Given the description of an element on the screen output the (x, y) to click on. 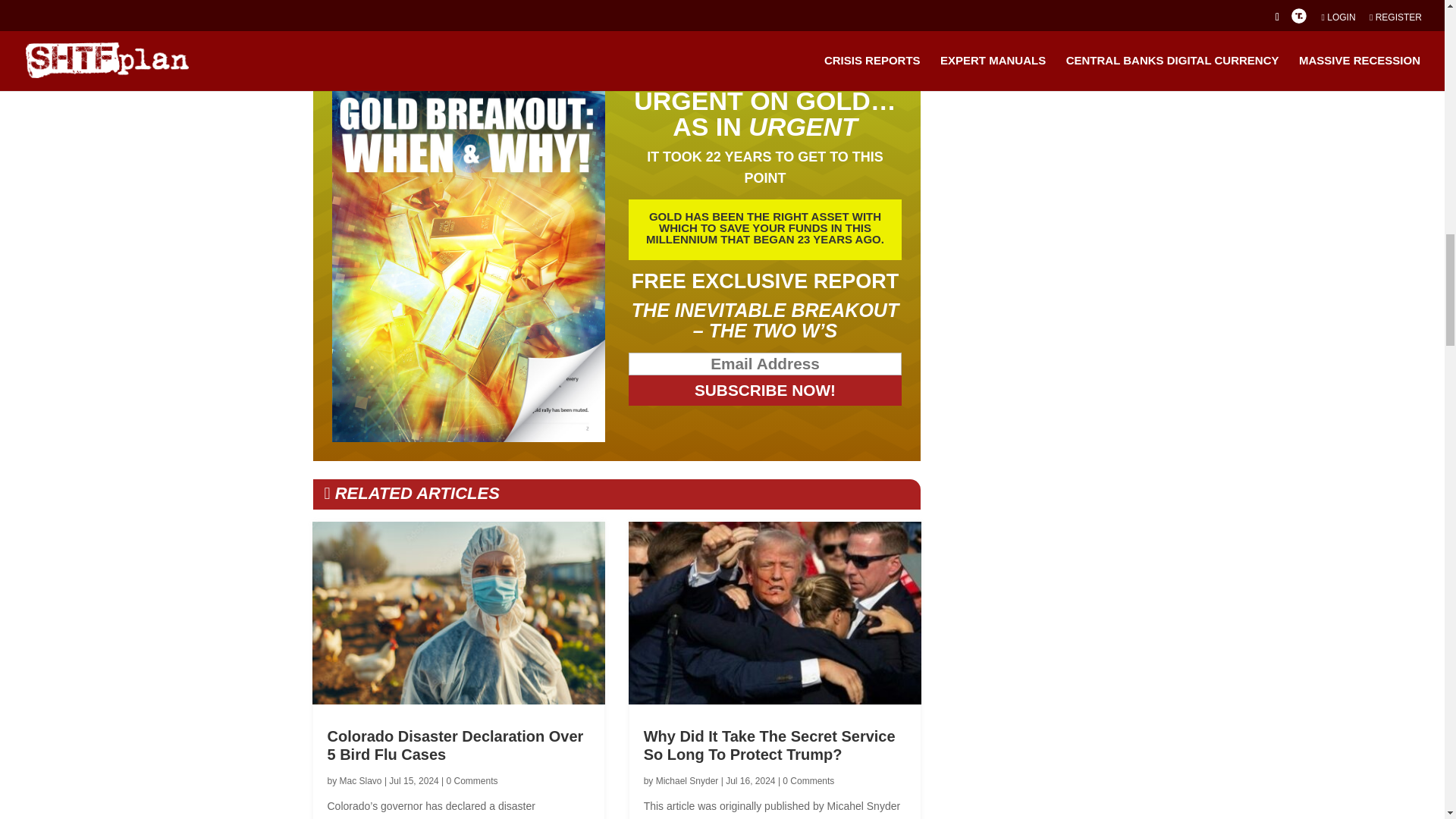
Gold-Breakout-cf (468, 264)
Subscribe Now! (765, 390)
Mac Slavo (360, 780)
Colorado Disaster Declaration Over 5 Bird Flu Cases (455, 745)
Posts by Michael Snyder (687, 780)
Subscribe Now! (765, 390)
Posts by Mac Slavo (360, 780)
